Given the description of an element on the screen output the (x, y) to click on. 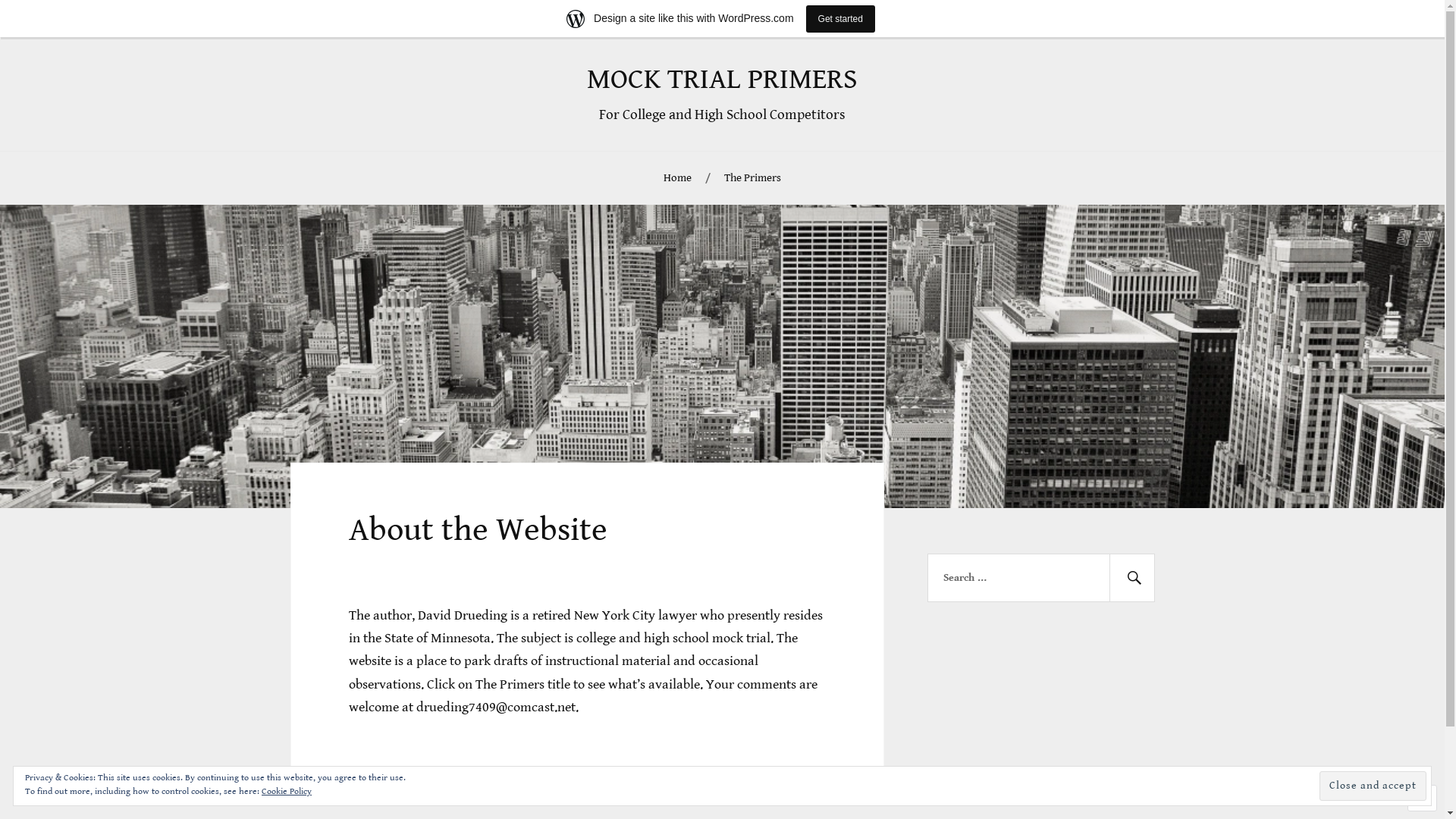
Home Element type: text (677, 178)
MOCK TRIAL PRIMERS Element type: text (721, 79)
The Primers Element type: text (752, 178)
Close and accept Element type: text (1372, 785)
Cookie Policy Element type: text (286, 791)
Search for: Element type: hover (1040, 577)
Get started Element type: text (840, 17)
